Given the description of an element on the screen output the (x, y) to click on. 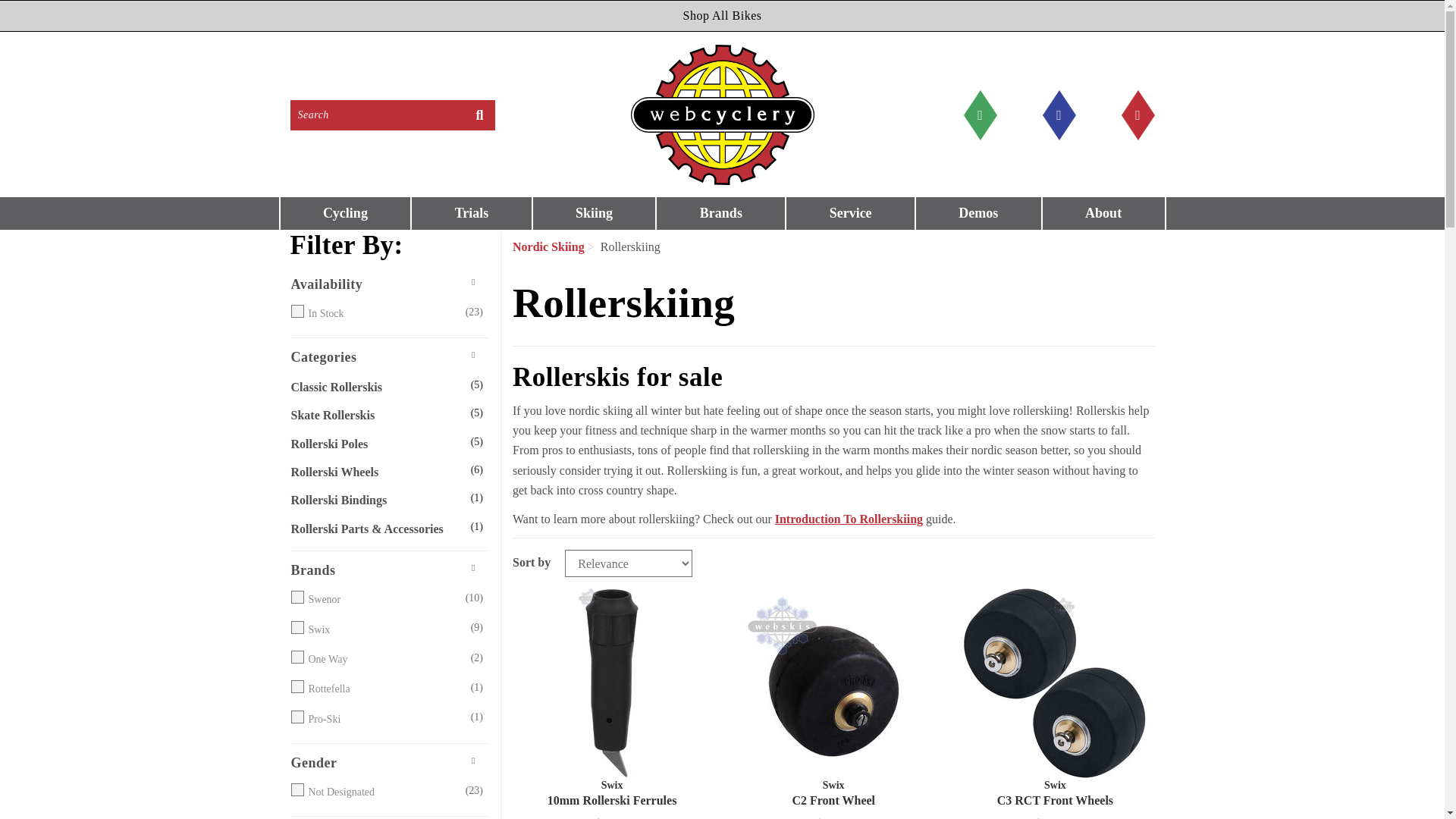
Search (479, 114)
Classic Rollerskis (374, 387)
Cycling (345, 213)
Shop All Bikes (722, 15)
Rollerski Bindings (374, 500)
Skate Rollerskis (374, 415)
Rollerski Poles (374, 444)
Rollerski Wheels (374, 472)
Search (376, 114)
